Given the description of an element on the screen output the (x, y) to click on. 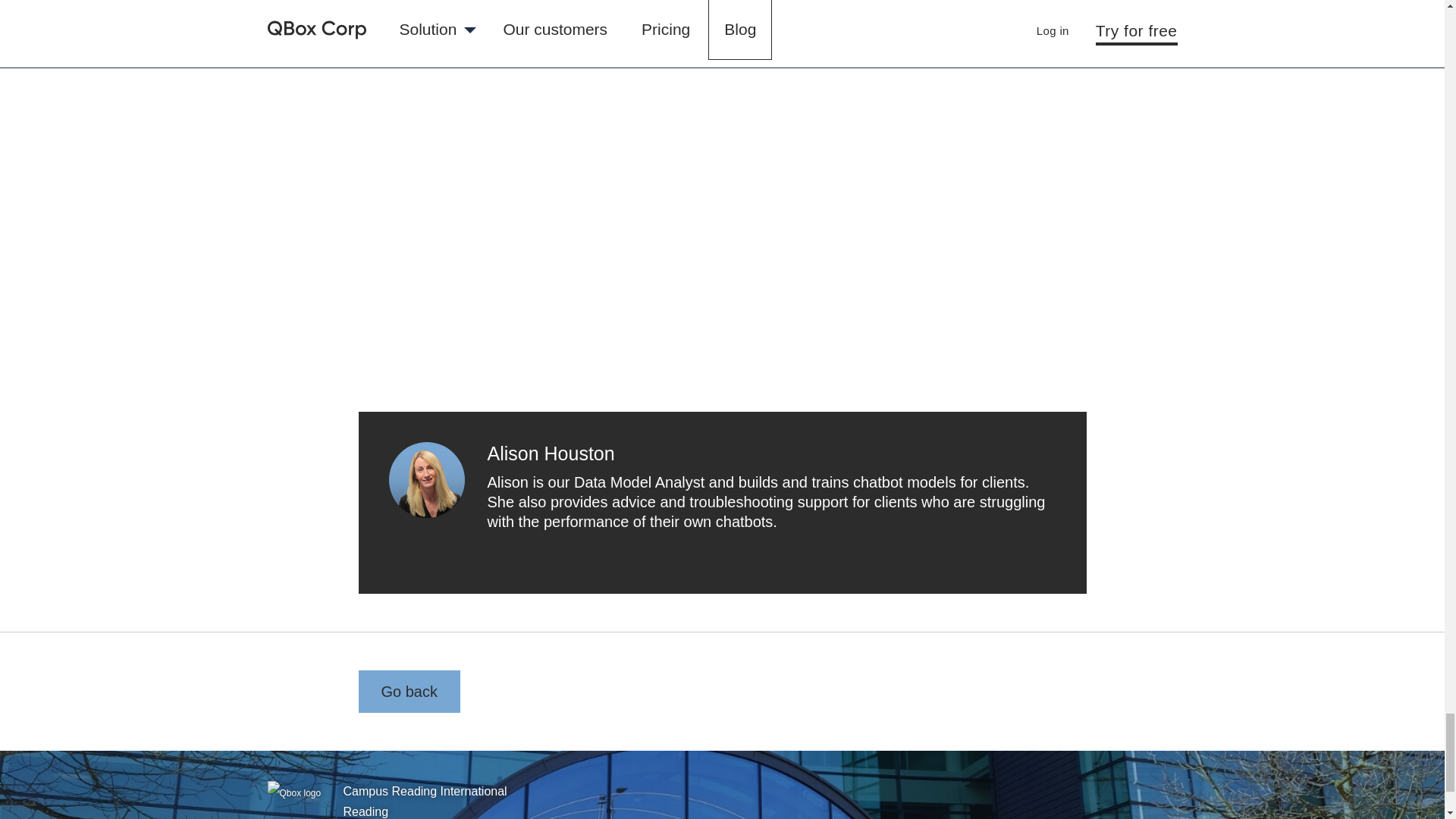
Go back (409, 691)
Follow me on LinkedIn (562, 550)
Go back (409, 691)
